Given the description of an element on the screen output the (x, y) to click on. 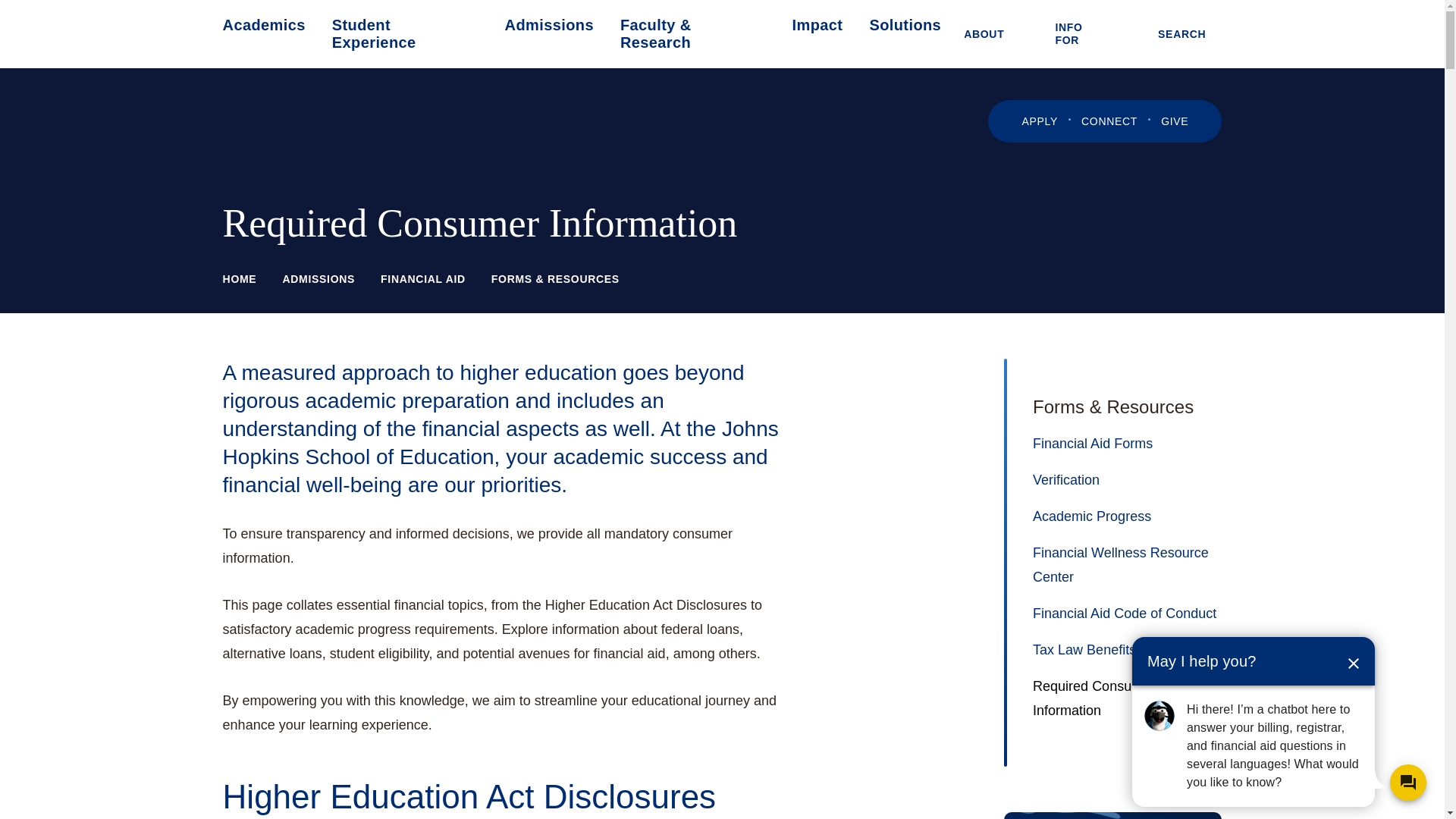
Student Experience (405, 33)
Impact (817, 25)
Academics (263, 25)
Admissions (549, 25)
